Given the description of an element on the screen output the (x, y) to click on. 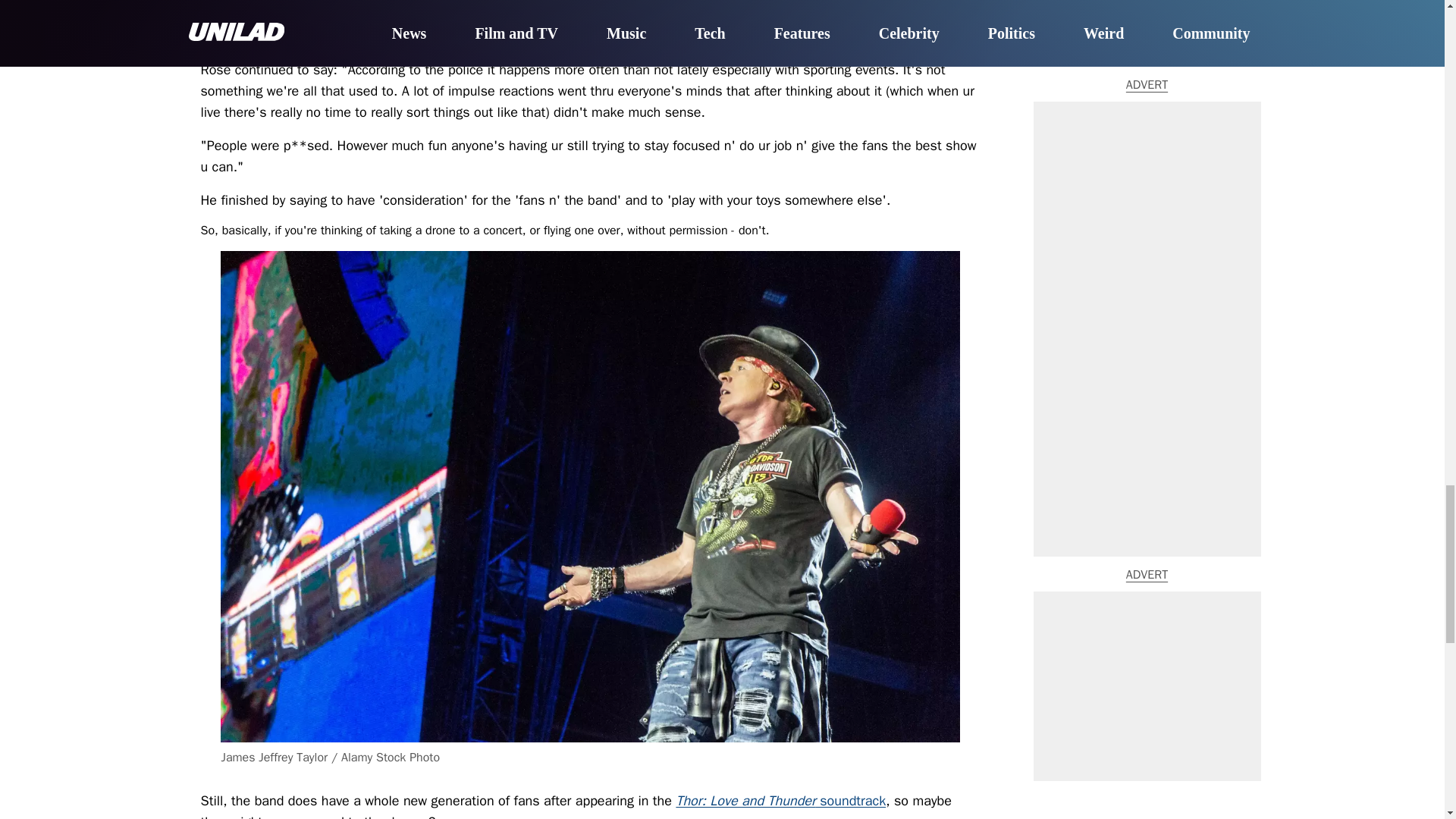
Thor: Love and Thunder soundtrack (780, 800)
